Given the description of an element on the screen output the (x, y) to click on. 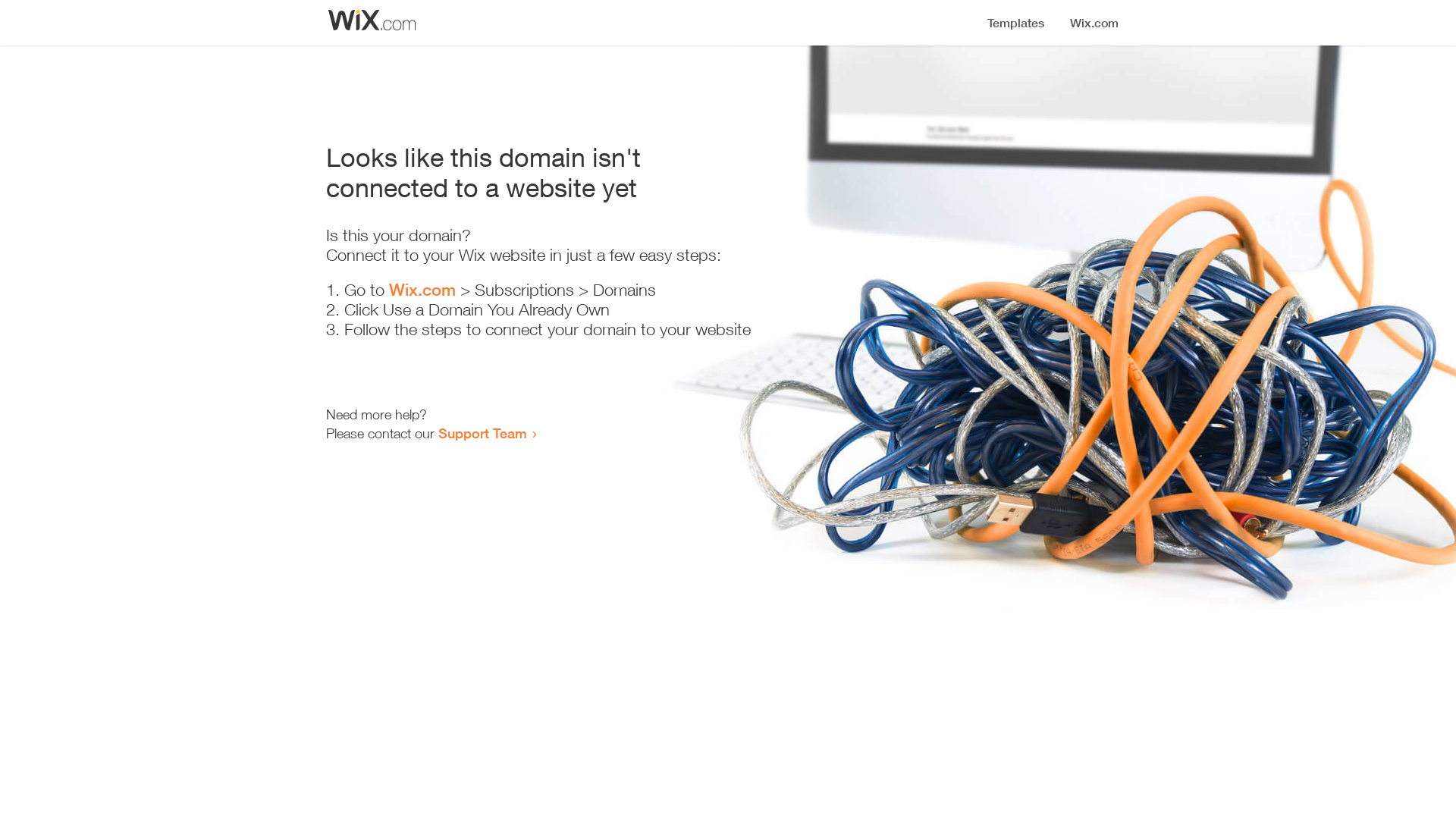
Wix.com Element type: text (422, 289)
Support Team Element type: text (482, 432)
